Given the description of an element on the screen output the (x, y) to click on. 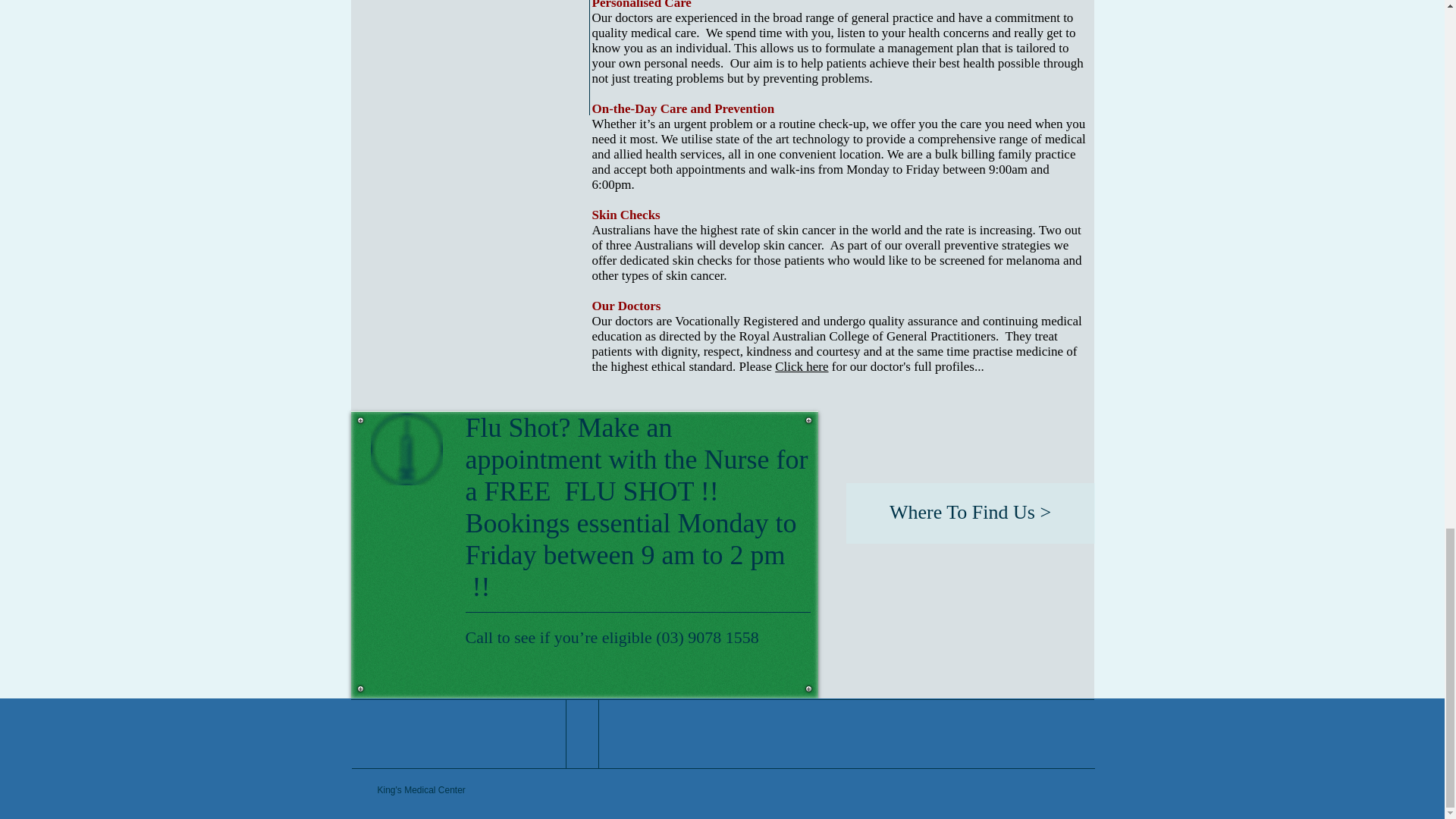
Google Maps (951, 498)
Click here (801, 366)
